Given the description of an element on the screen output the (x, y) to click on. 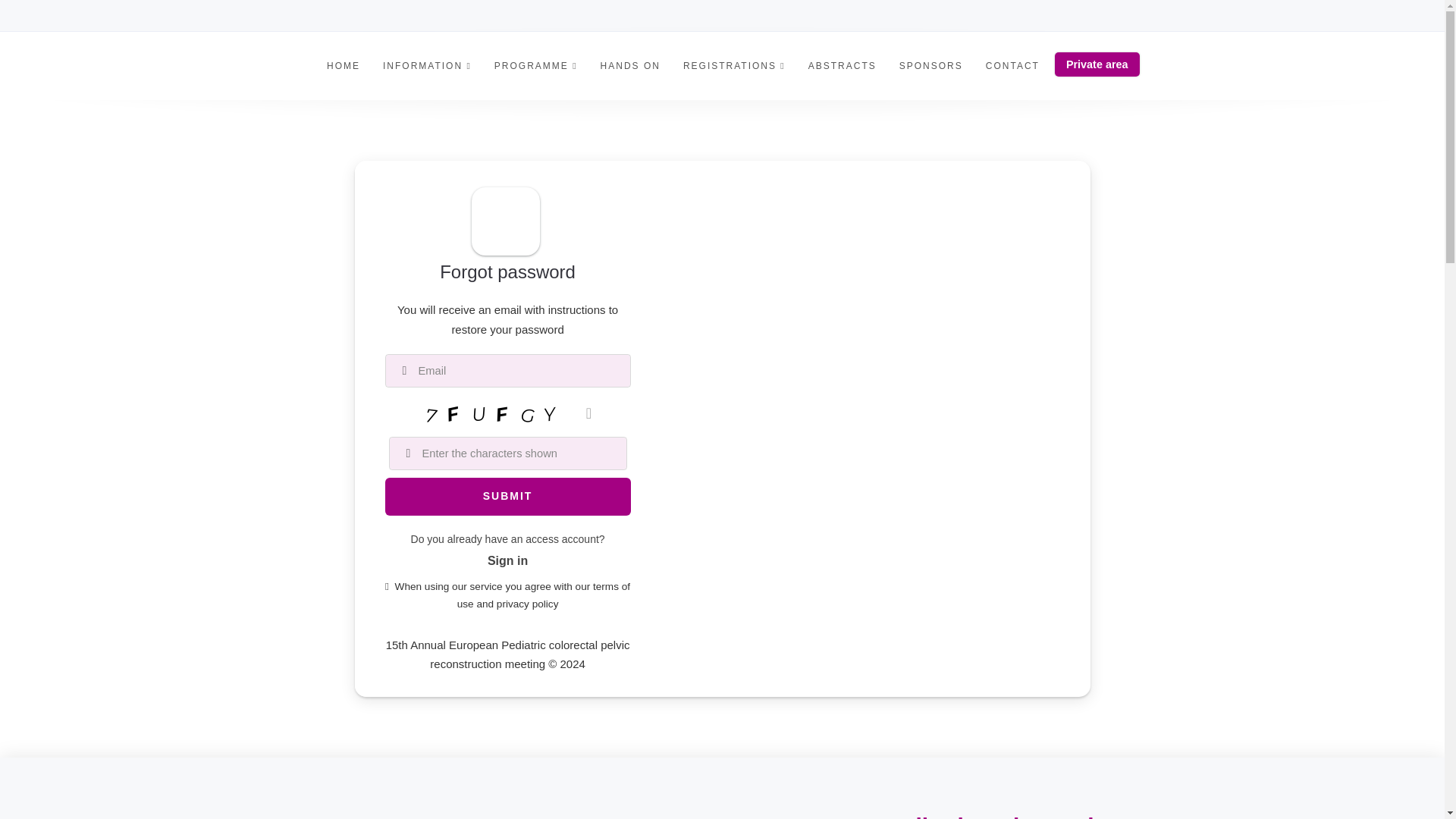
SPONSORS (931, 65)
SUBMIT (507, 496)
Private area (1097, 64)
INFORMATION (427, 65)
ABSTRACTS (842, 65)
Sign in (507, 560)
CONTACT (1012, 65)
PROGRAMME (536, 65)
HANDS ON (630, 65)
